Given the description of an element on the screen output the (x, y) to click on. 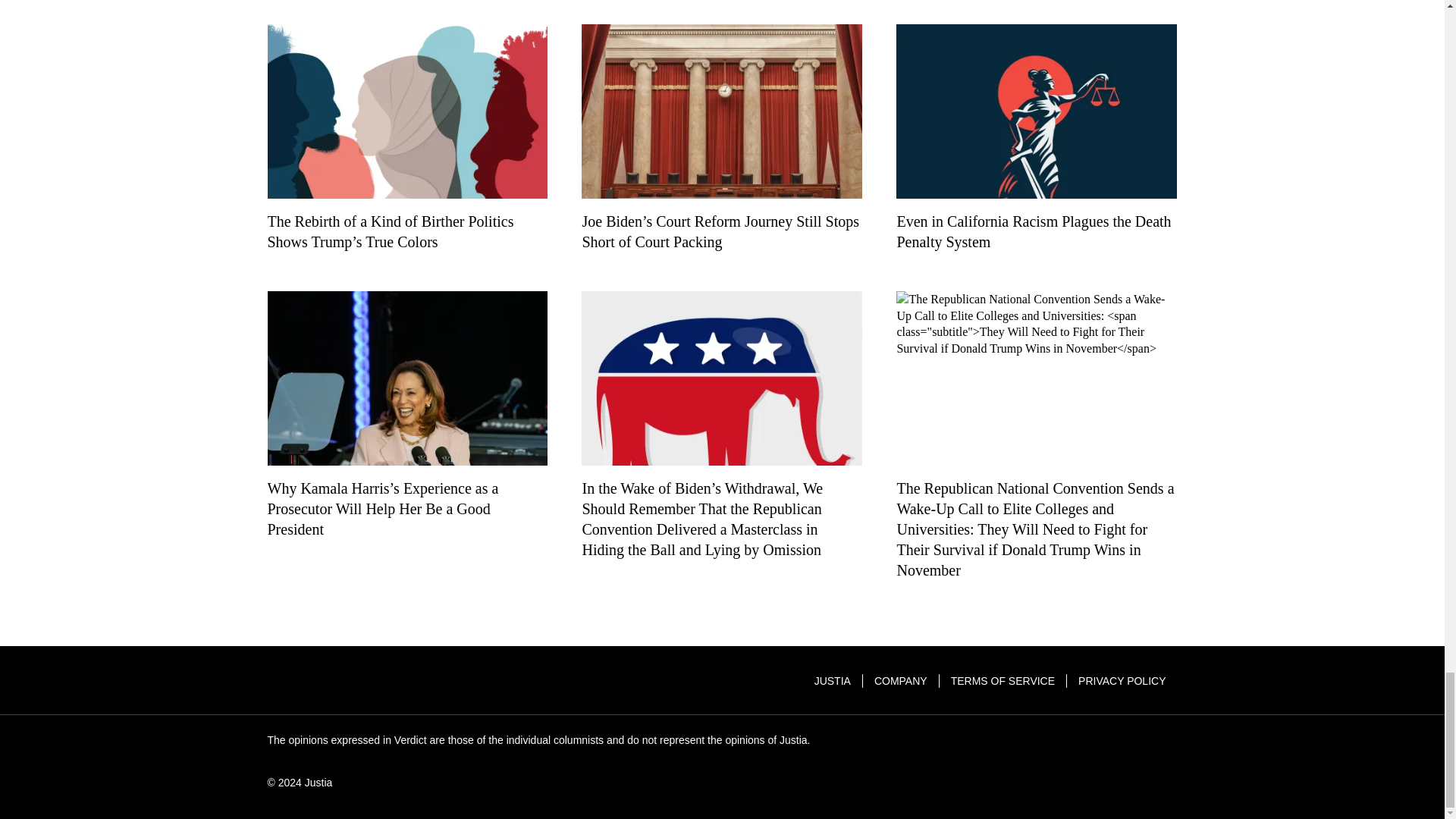
Justia (323, 680)
